Given the description of an element on the screen output the (x, y) to click on. 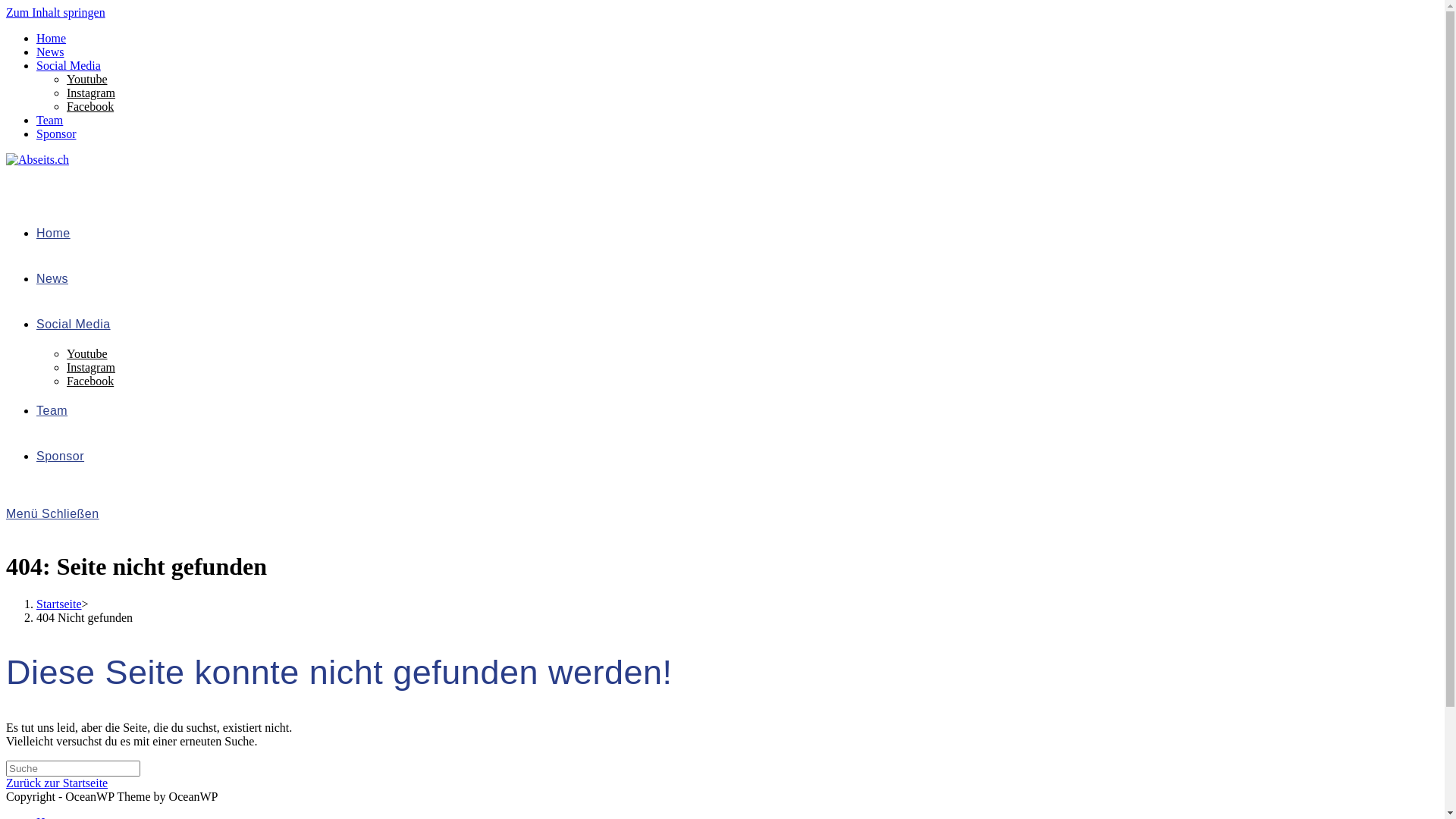
Social Media Element type: text (68, 65)
Instagram Element type: text (90, 92)
Instagram Element type: text (90, 366)
Sponsor Element type: text (60, 455)
Facebook Element type: text (89, 380)
Home Element type: text (53, 232)
Sponsor Element type: text (55, 133)
Youtube Element type: text (86, 78)
Home Element type: text (50, 37)
News Element type: text (49, 51)
Youtube Element type: text (86, 353)
Social Media Element type: text (73, 323)
Team Element type: text (49, 119)
Facebook Element type: text (89, 106)
News Element type: text (52, 278)
Team Element type: text (51, 410)
Startseite Element type: text (58, 603)
Zum Inhalt springen Element type: text (55, 12)
